Given the description of an element on the screen output the (x, y) to click on. 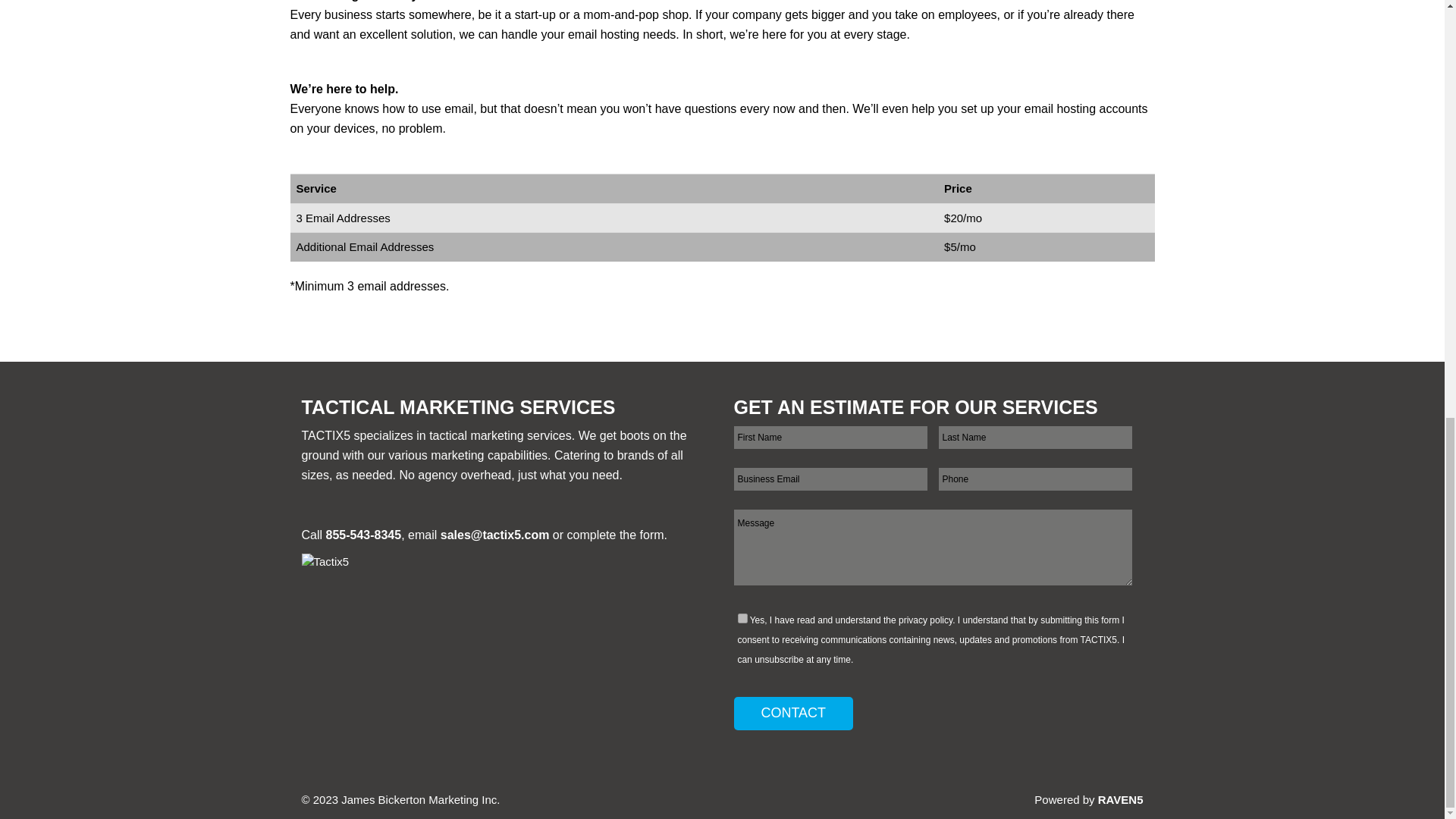
CONTACT (793, 713)
CONTACT (793, 713)
855-543-8345 (363, 534)
RAVEN5 (1119, 799)
